Given the description of an element on the screen output the (x, y) to click on. 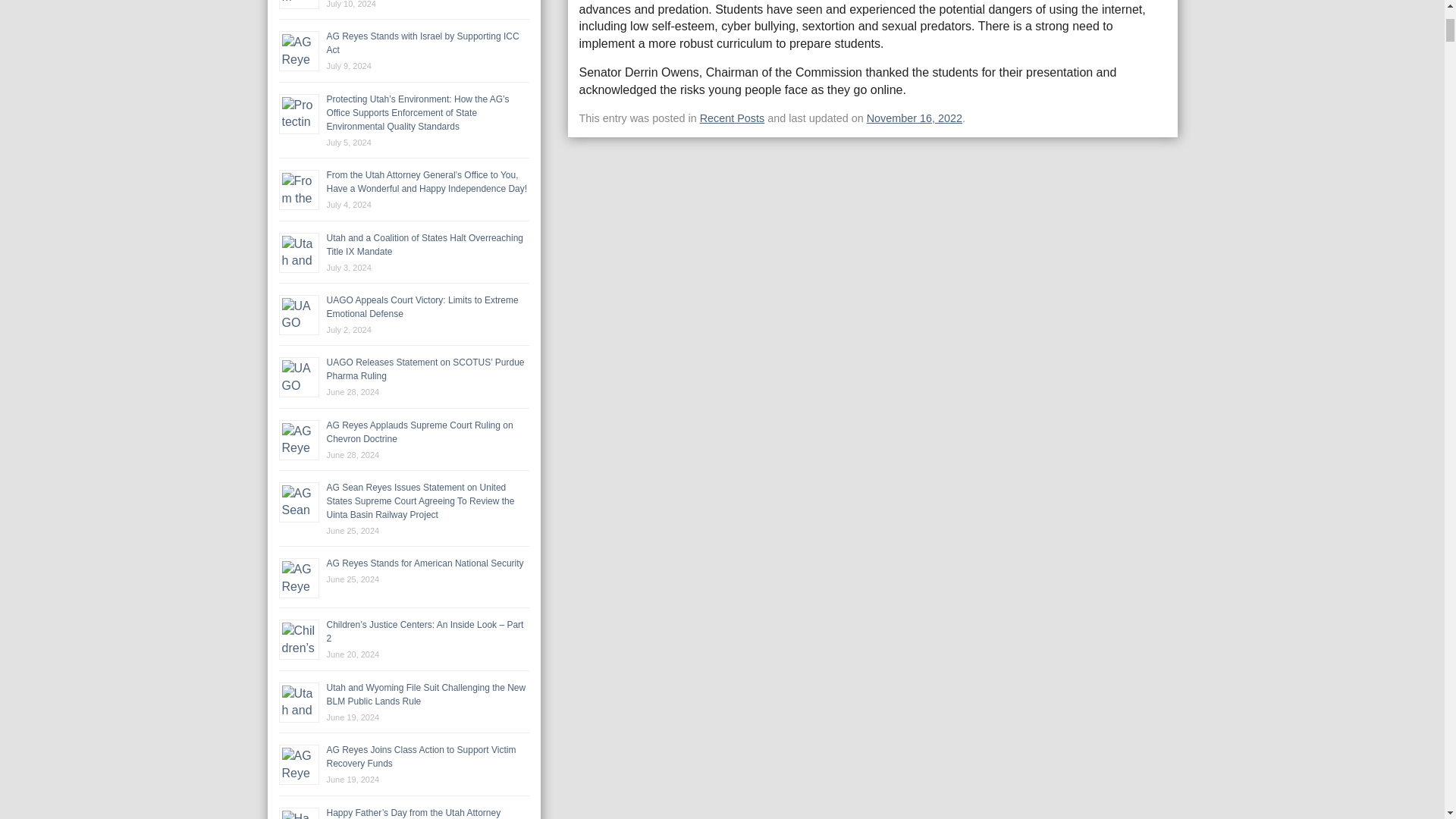
4:48 pm (914, 118)
